Given the description of an element on the screen output the (x, y) to click on. 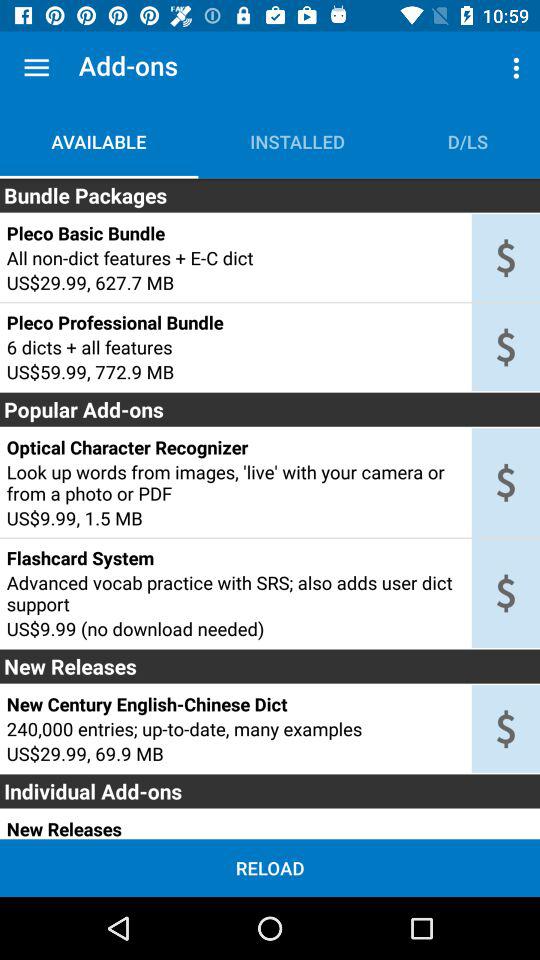
turn off item below the us 9 99 (235, 557)
